Given the description of an element on the screen output the (x, y) to click on. 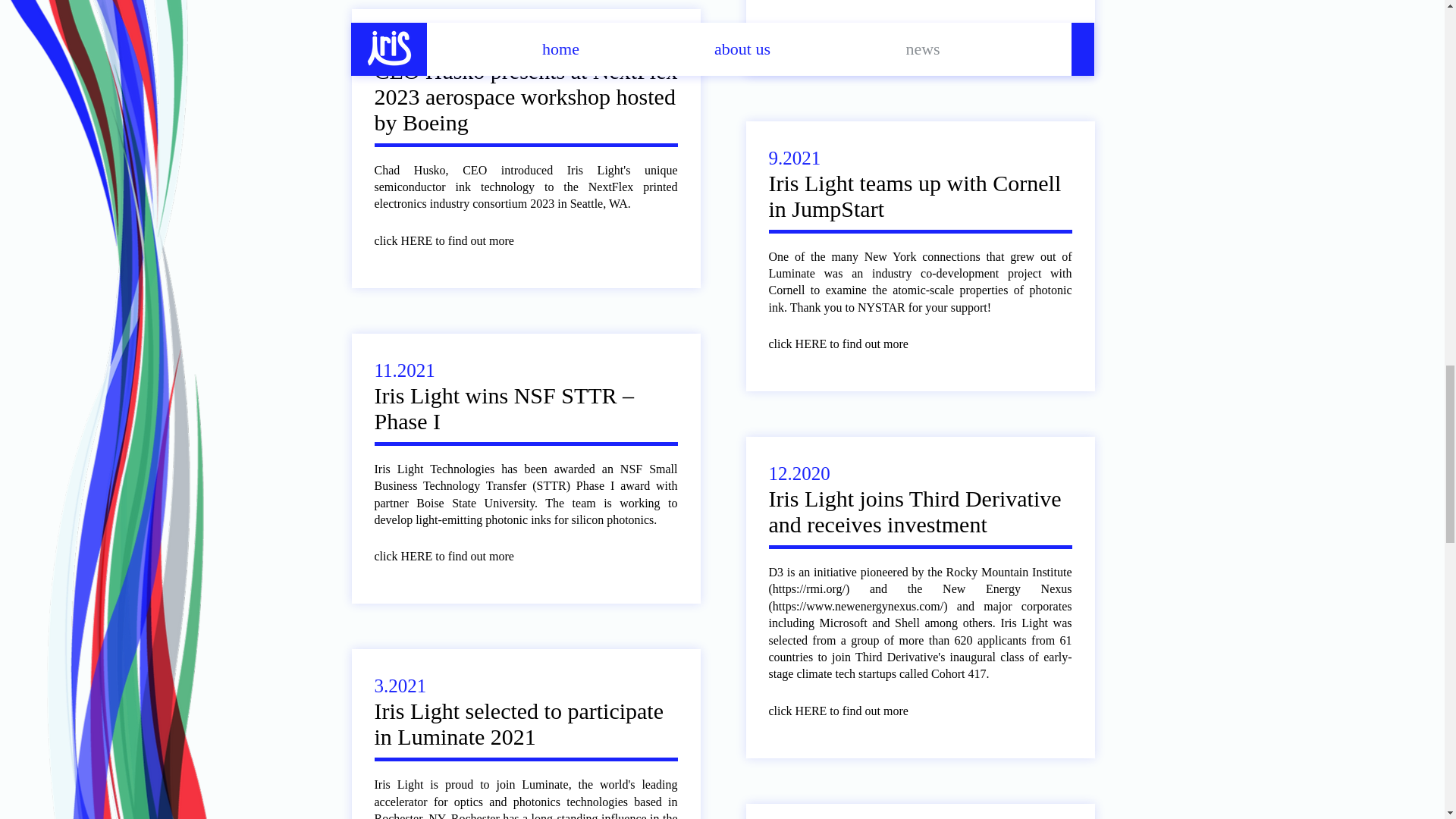
click HERE to find out more (849, 711)
click HERE to find out more (455, 240)
click HERE to find out more (455, 556)
click HERE to find out more (849, 343)
click HERE to find out more (849, 27)
